Given the description of an element on the screen output the (x, y) to click on. 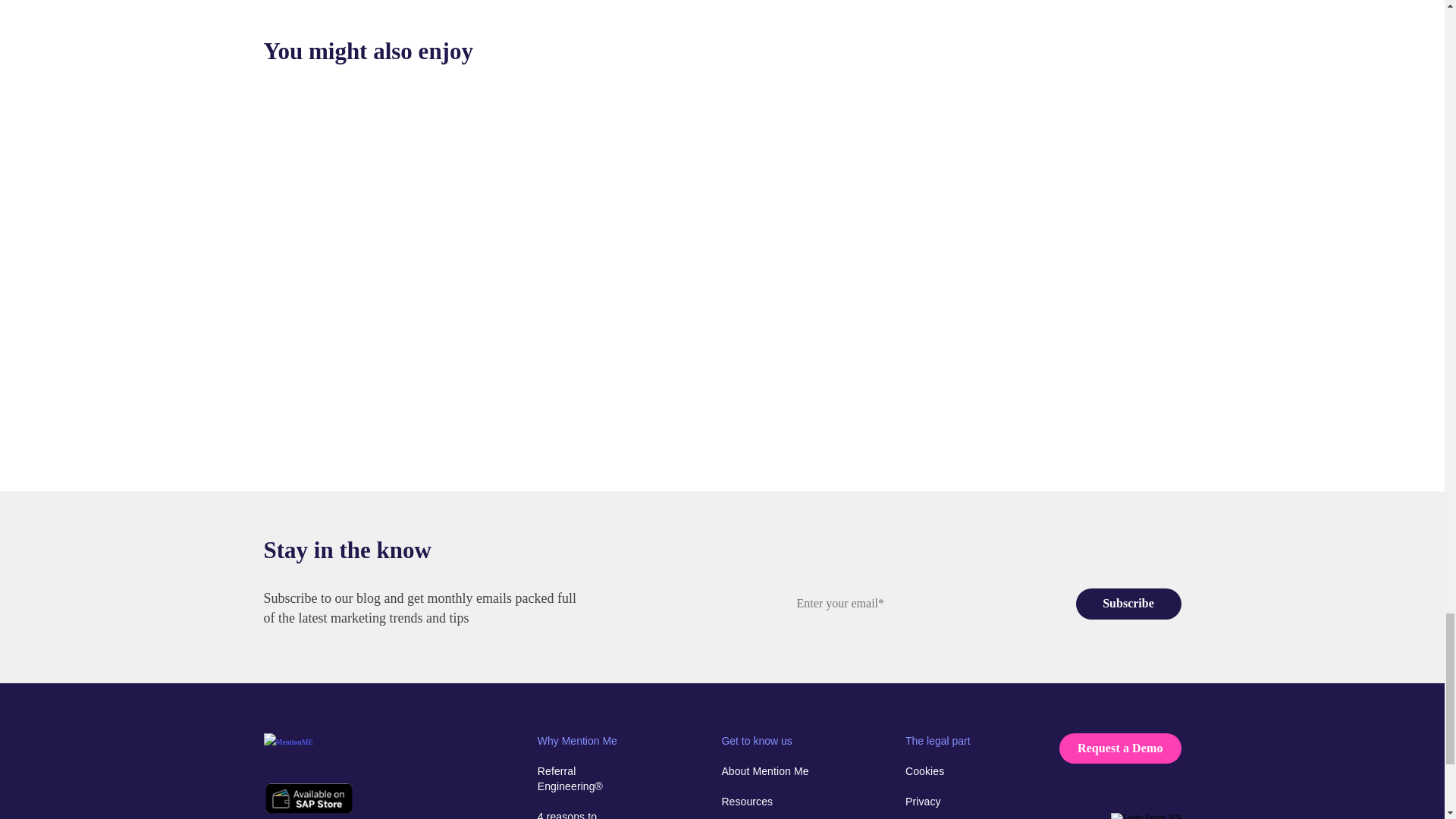
Subscribe (1127, 603)
Request a Demo (1119, 748)
